Given the description of an element on the screen output the (x, y) to click on. 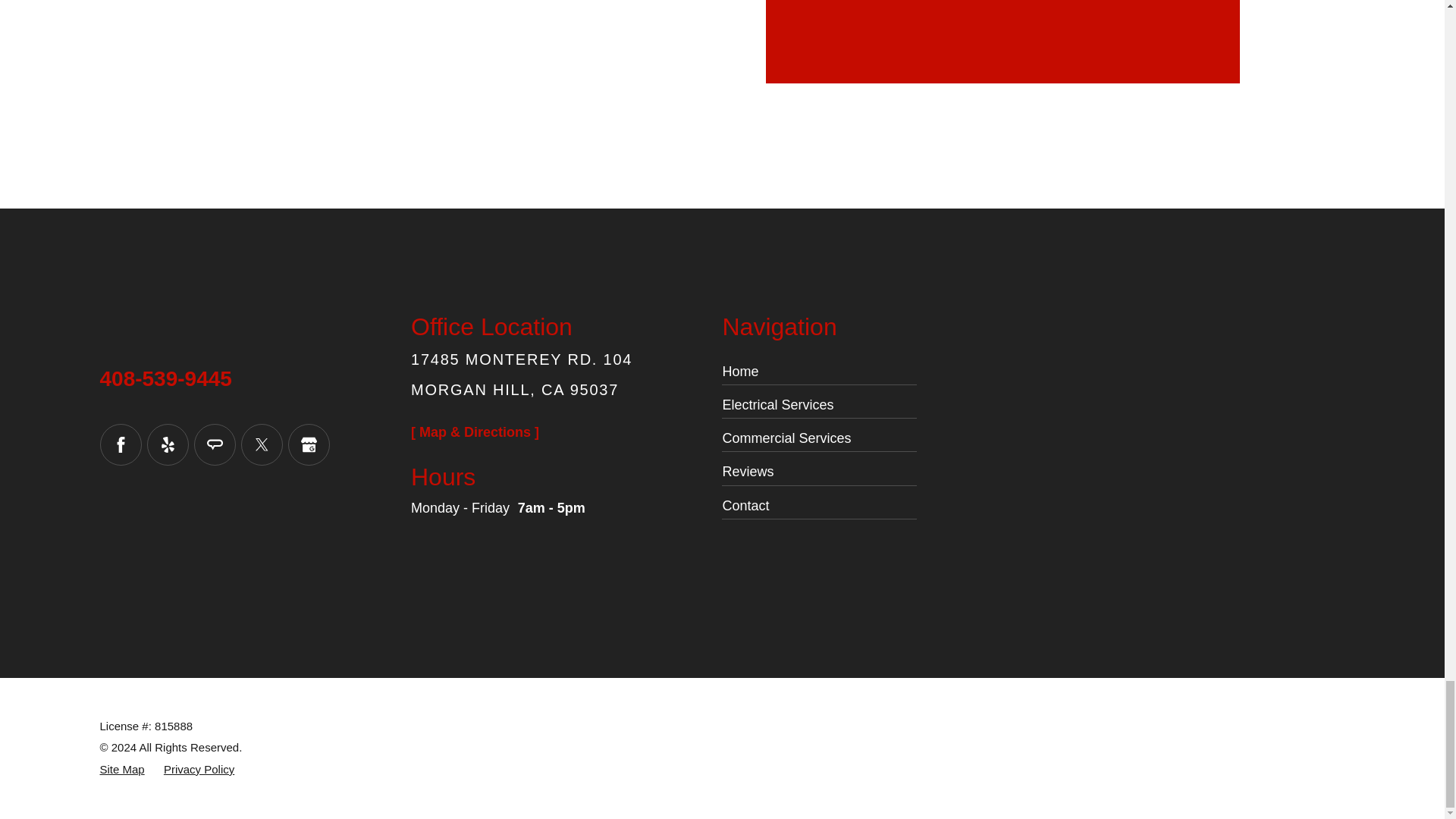
View next item (850, 2)
View previous item (817, 2)
